Given the description of an element on the screen output the (x, y) to click on. 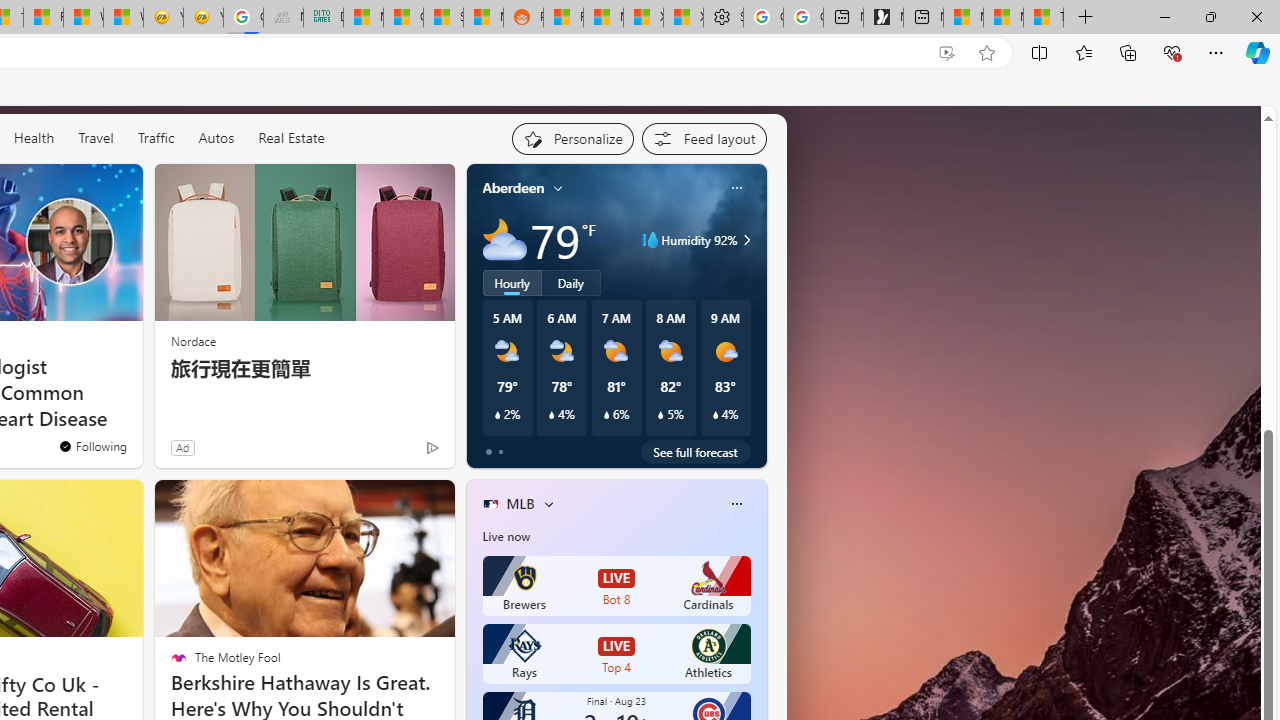
Real Estate (291, 137)
MSNBC - MSN (363, 17)
Autos (215, 137)
Traffic (155, 137)
Health (34, 137)
tab-1 (500, 451)
